Given the description of an element on the screen output the (x, y) to click on. 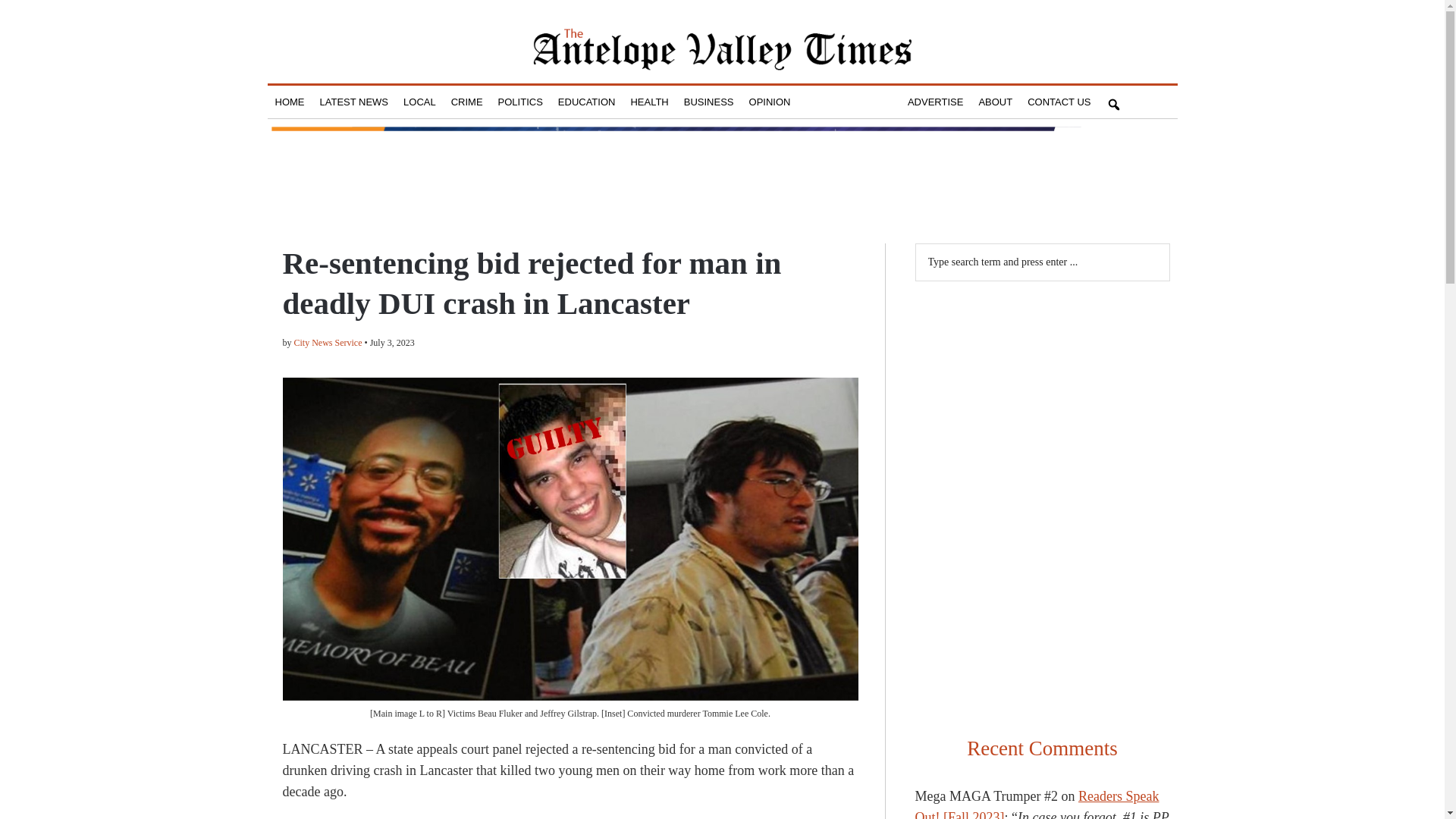
Advertisement (1041, 614)
OPINION (769, 101)
CRIME (467, 101)
SHOW SEARCH (1112, 101)
EDUCATION (586, 101)
CONTACT US (1058, 101)
HEALTH (649, 101)
LOCAL (420, 101)
ADVERTISE (935, 101)
The Antelope Valley Times (721, 49)
Advertisement (1041, 395)
ABOUT (995, 101)
City News Service (328, 342)
